Given the description of an element on the screen output the (x, y) to click on. 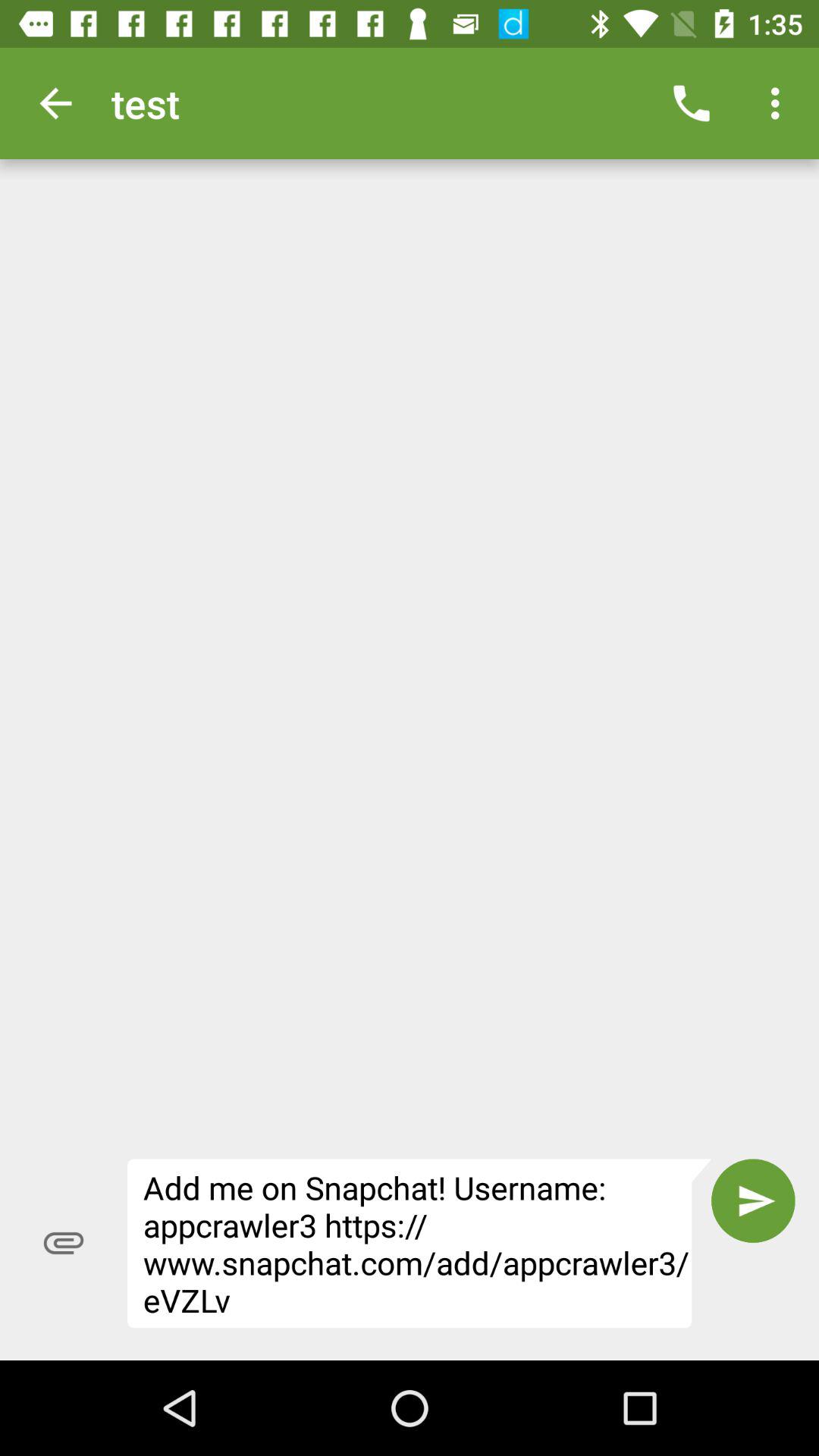
press icon next to test item (691, 103)
